Given the description of an element on the screen output the (x, y) to click on. 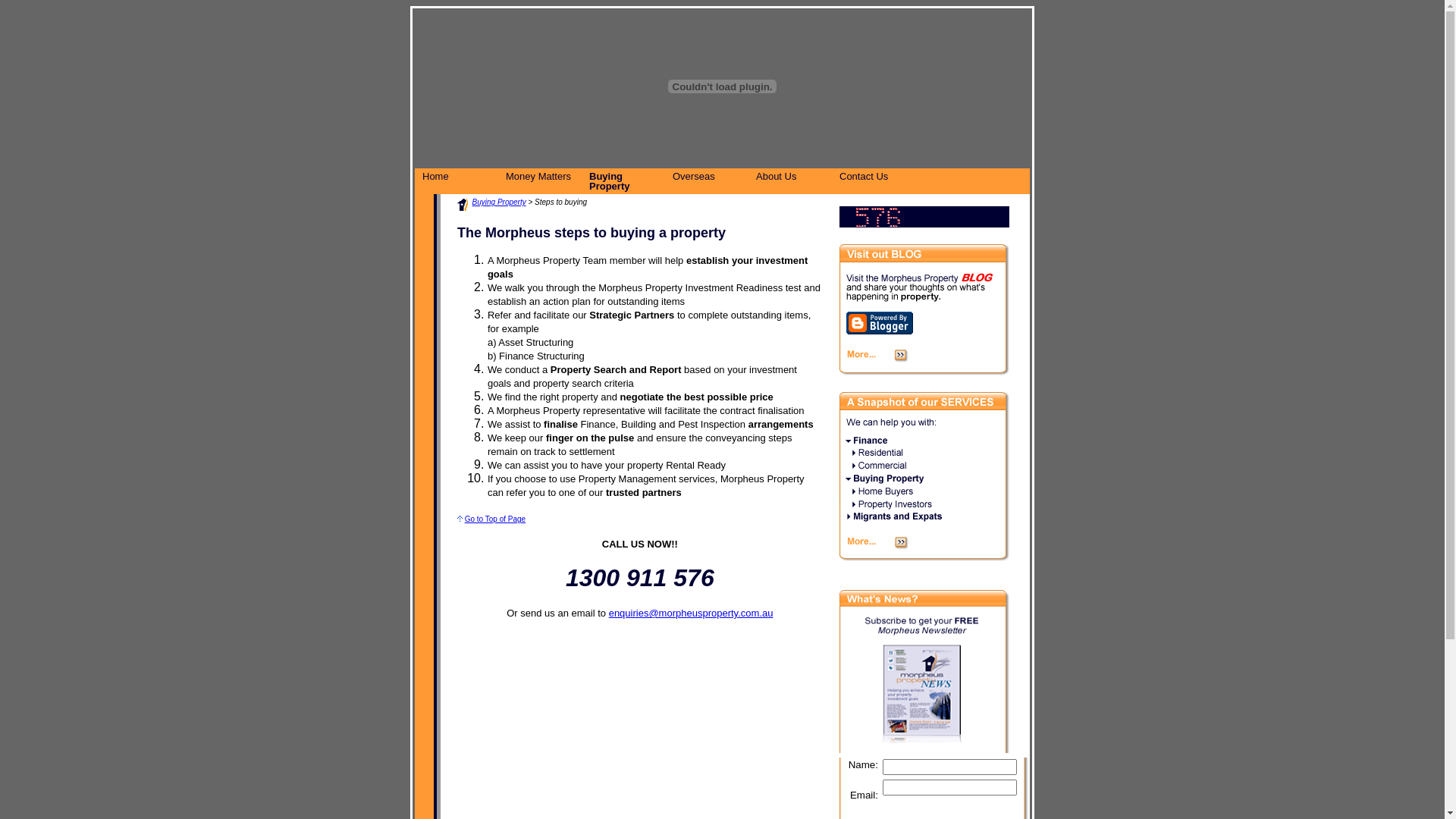
Money Matters Element type: text (539, 176)
Buying Property Element type: text (499, 201)
About Us Element type: text (789, 176)
Go to Top of Page Element type: text (494, 518)
enquiries@morpheusproperty.com.au Element type: text (690, 612)
Home Element type: text (456, 176)
Contact Us Element type: text (873, 176)
Overseas Element type: text (706, 176)
Buying Property Element type: text (623, 181)
Morpheus Property - Header Element type: hover (721, 86)
